Given the description of an element on the screen output the (x, y) to click on. 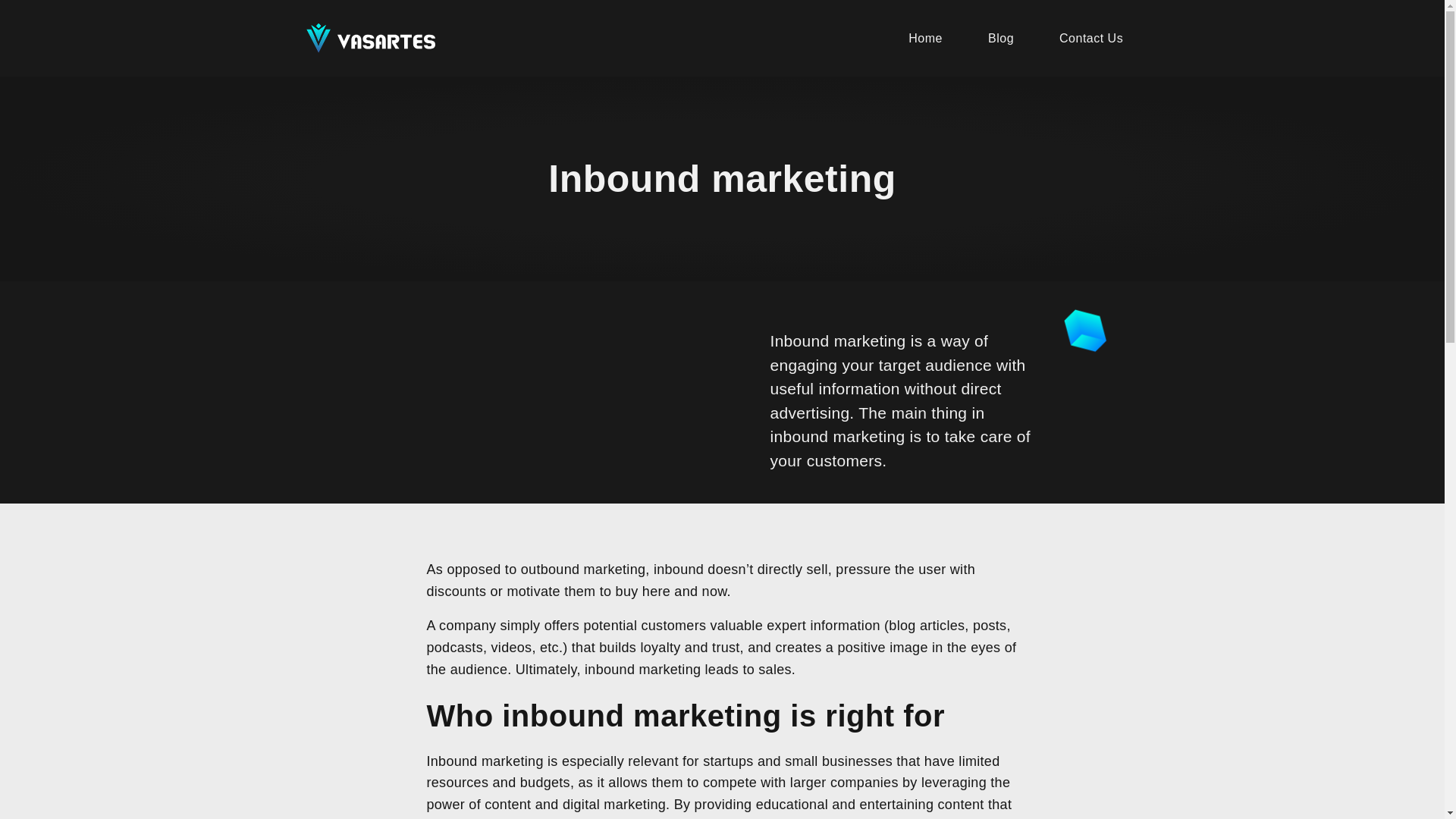
Home (925, 37)
Contact Us (1090, 37)
Blog (1000, 37)
